Given the description of an element on the screen output the (x, y) to click on. 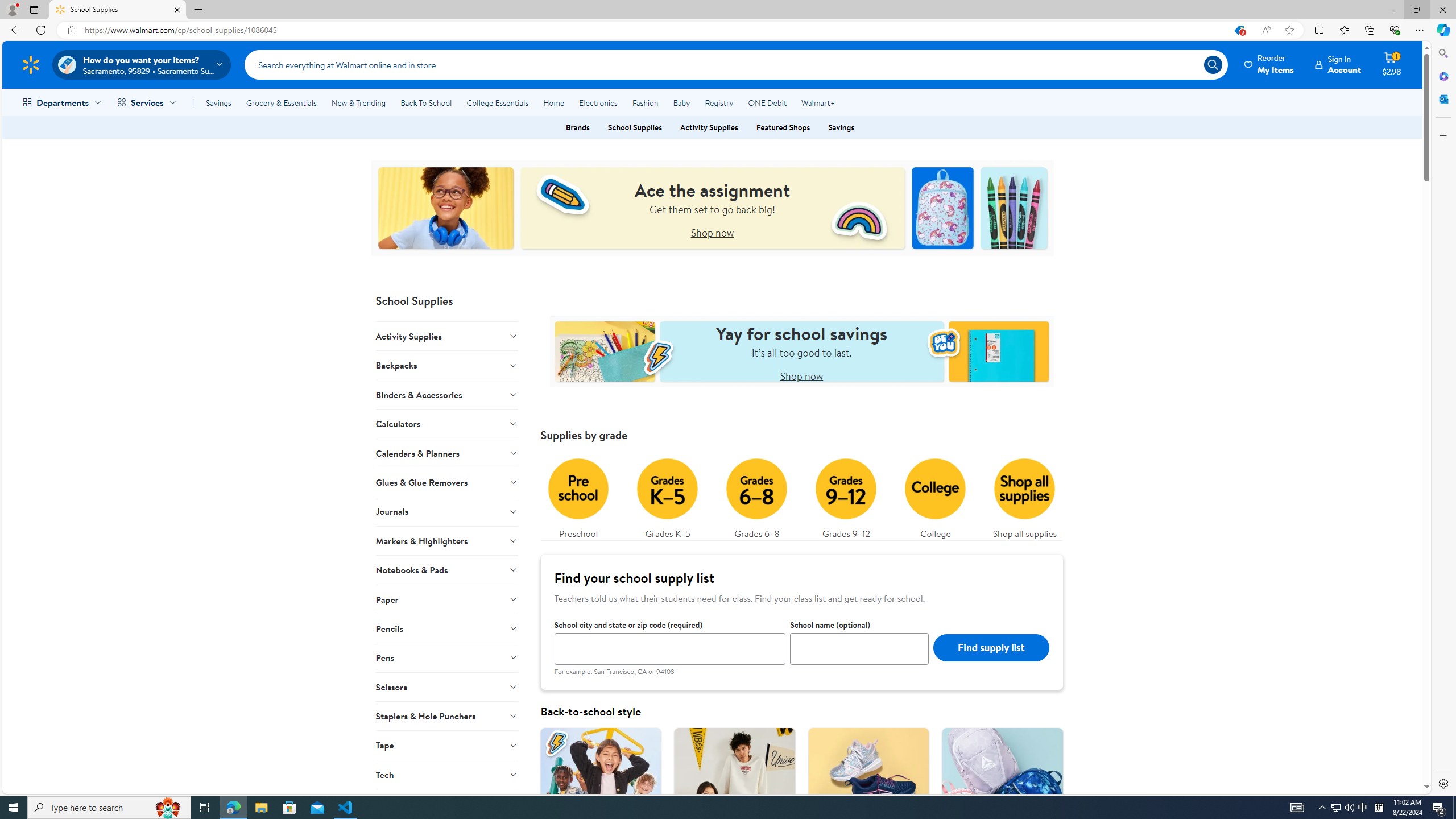
Savings (840, 126)
New & Trending (358, 102)
Sign In Account (1338, 64)
School name (optional) (859, 648)
Sign InAccount (1338, 64)
College Essentials (496, 102)
College (935, 495)
Walmart Homepage (30, 64)
Scissors (446, 686)
Tape (446, 745)
